Given the description of an element on the screen output the (x, y) to click on. 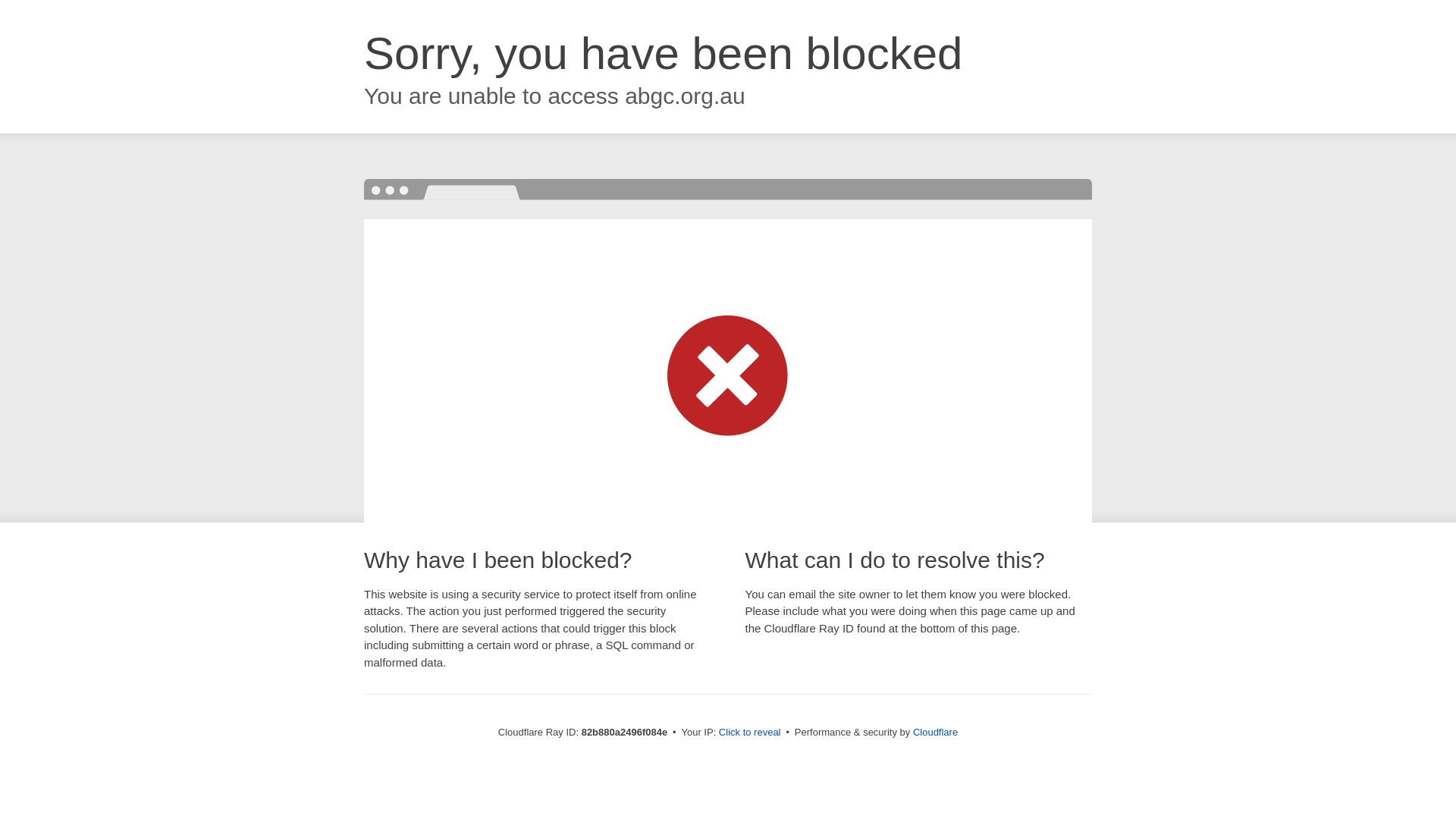
Cloudflare Element type: text (935, 731)
Click to reveal Element type: text (749, 732)
